Given the description of an element on the screen output the (x, y) to click on. 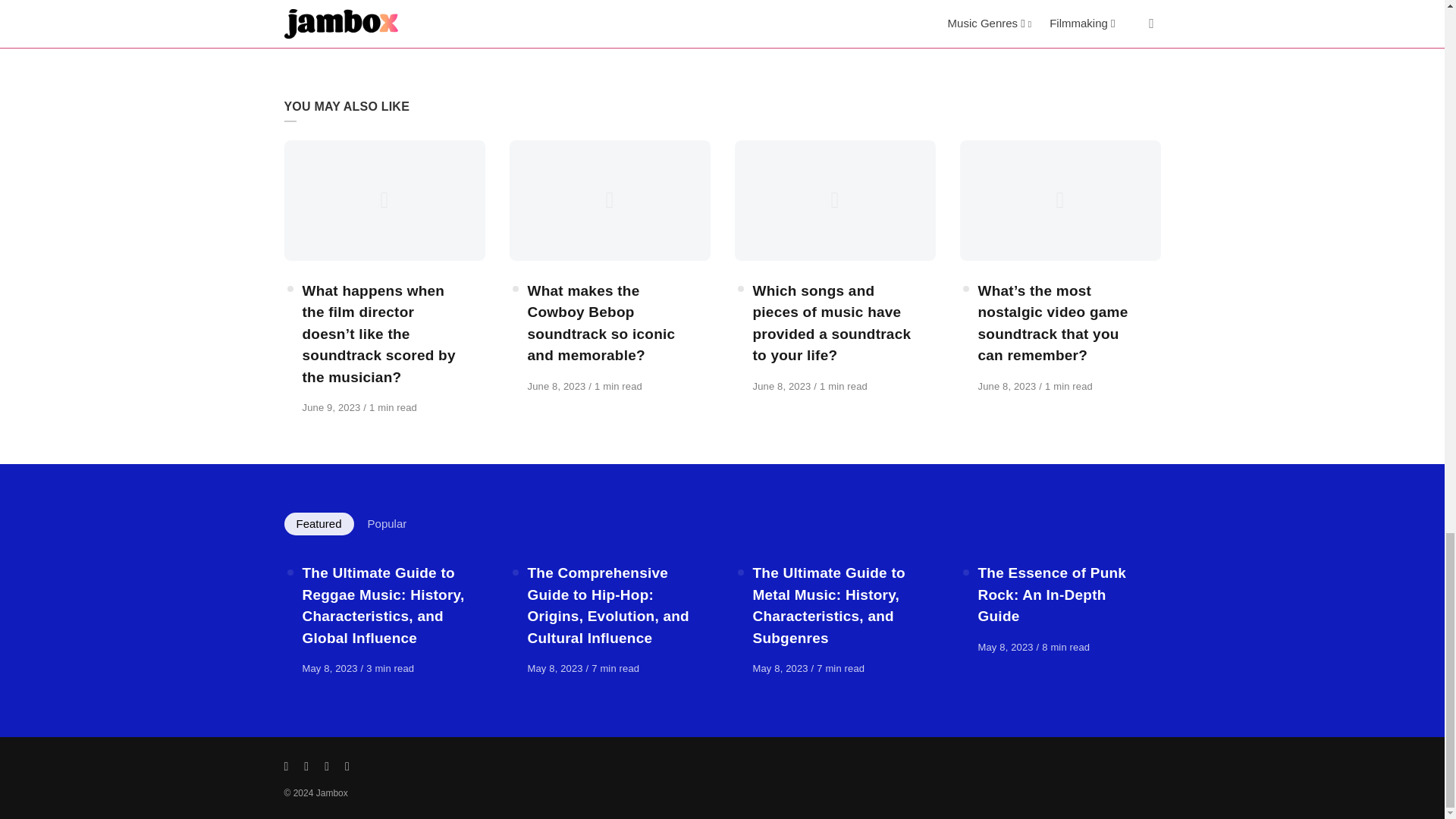
May 8, 2023 (556, 668)
May 8, 2023 (781, 668)
May 8, 2023 (330, 668)
June 8, 2023 (1008, 386)
May 8, 2023 (1007, 646)
June 9, 2023 (331, 407)
June 9, 2023 (331, 407)
June 8, 2023 (558, 386)
June 8, 2023 (782, 386)
